Given the description of an element on the screen output the (x, y) to click on. 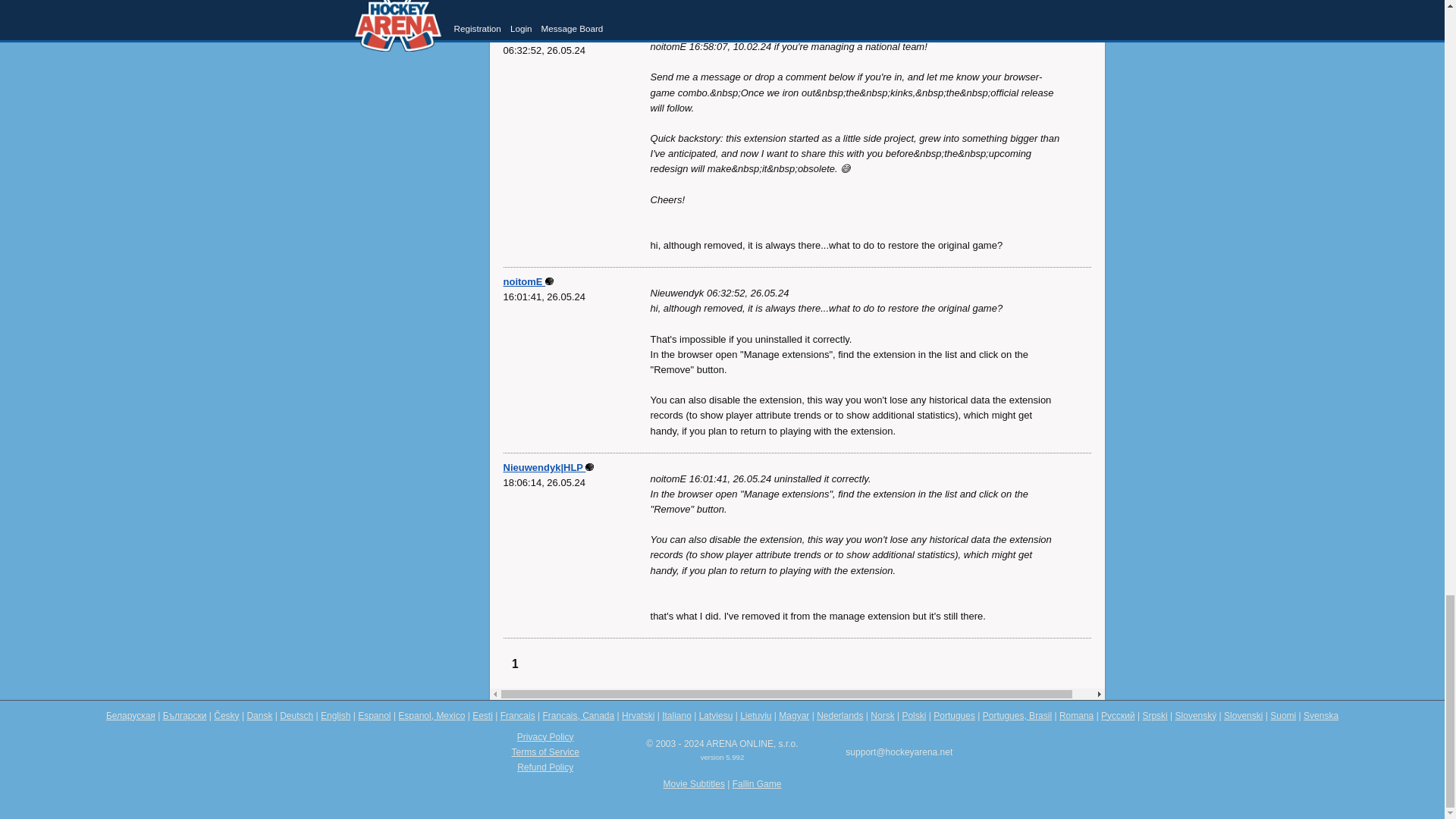
Deutsch (296, 715)
English (335, 715)
noitomE (528, 281)
Fallin Game (756, 783)
Espanol (374, 715)
Espanol, Mexico (430, 715)
Download Subtitles from OpenSubtitles.org (694, 783)
Dansk (259, 715)
Eesti (482, 715)
